Given the description of an element on the screen output the (x, y) to click on. 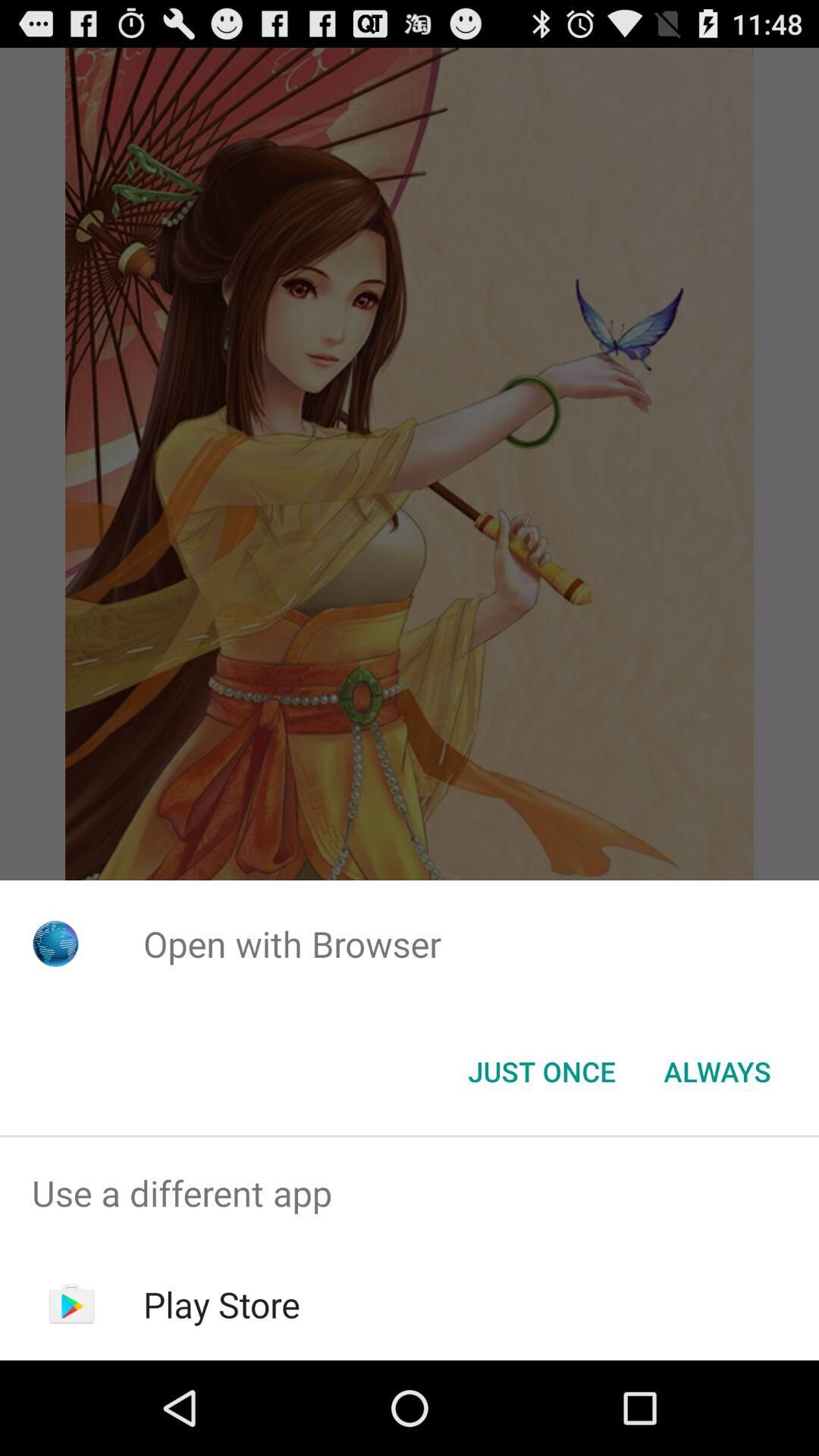
swipe until the play store app (221, 1304)
